Given the description of an element on the screen output the (x, y) to click on. 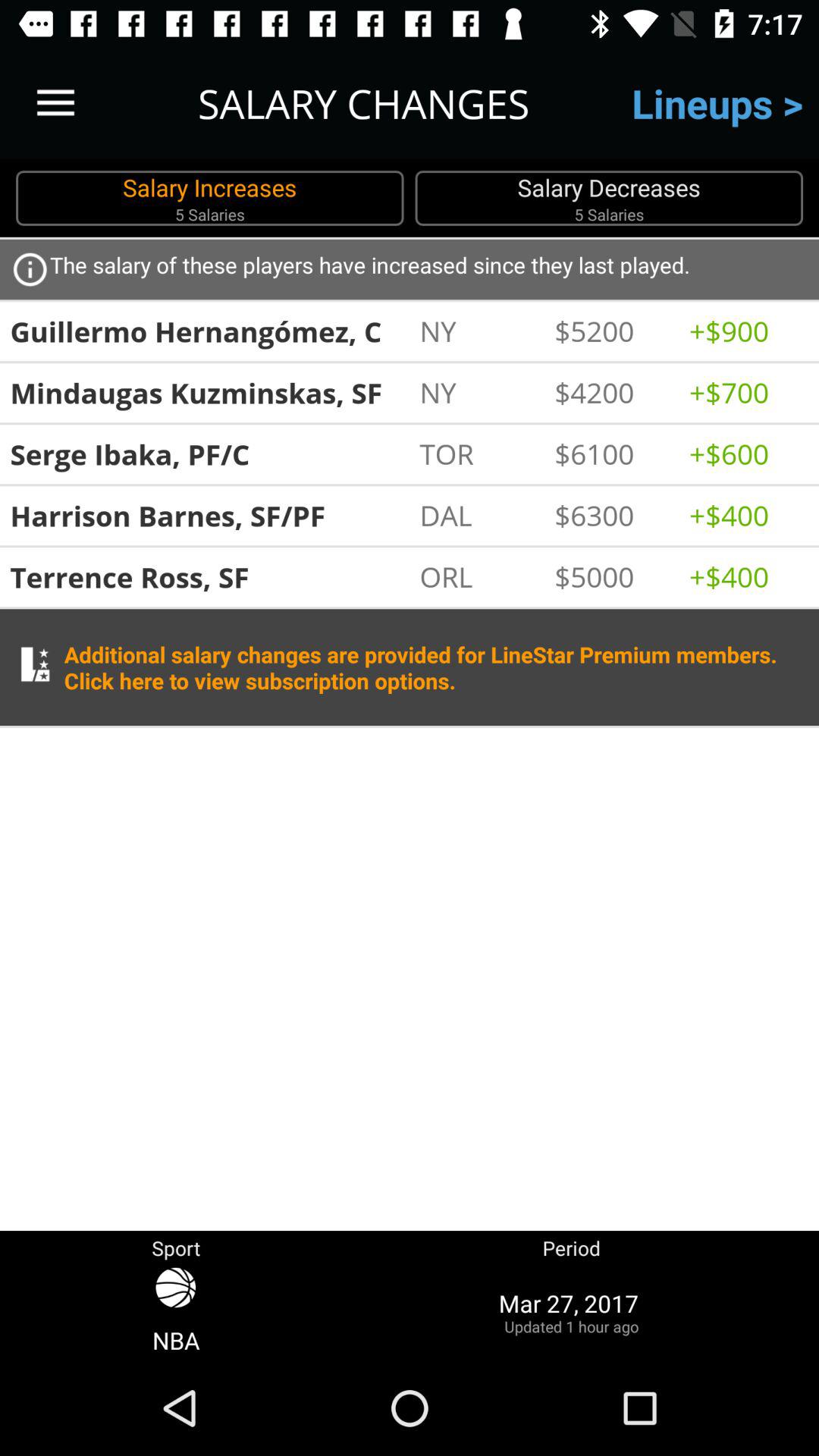
turn on icon above orl icon (478, 515)
